Given the description of an element on the screen output the (x, y) to click on. 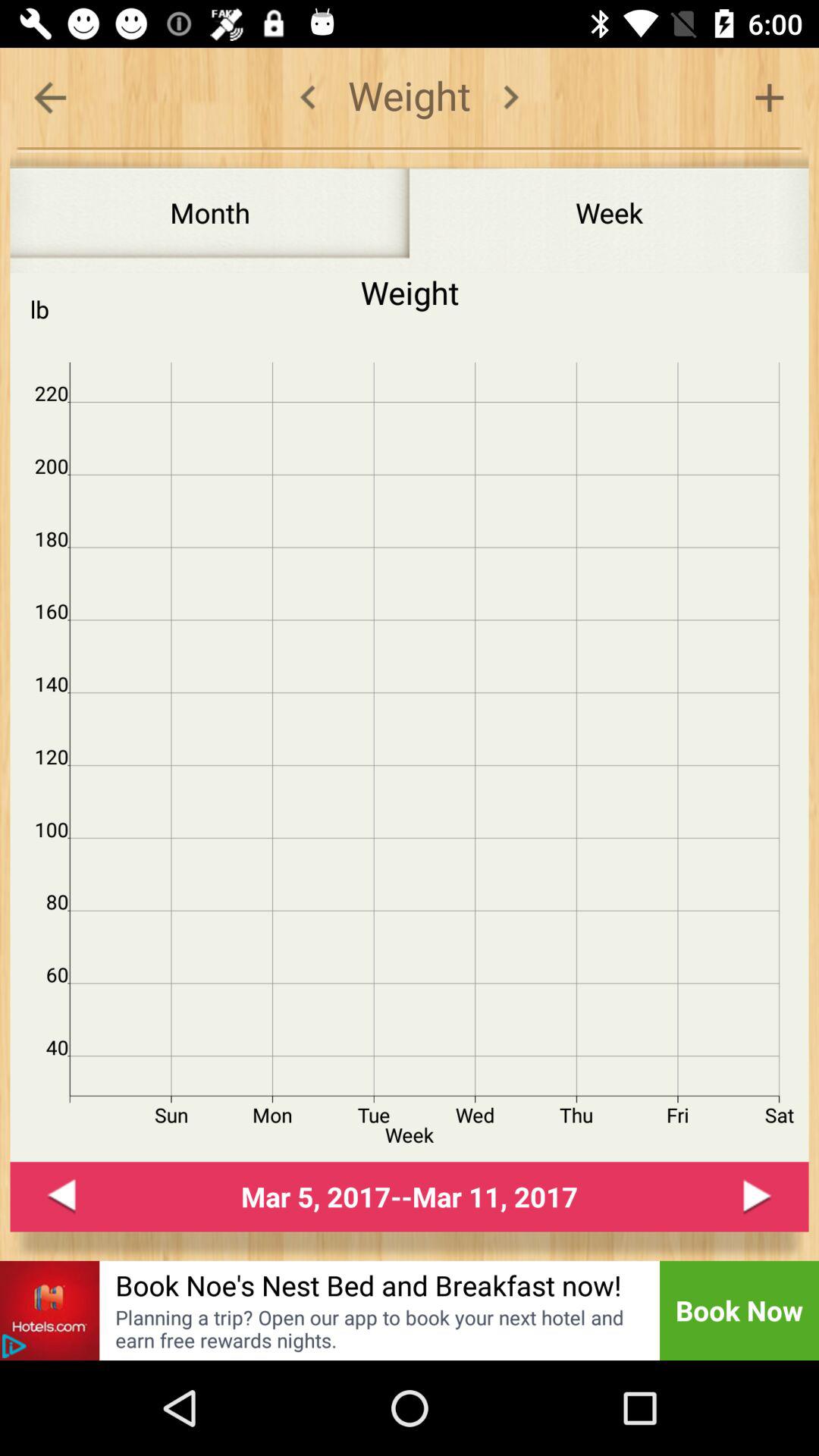
add something (769, 97)
